Given the description of an element on the screen output the (x, y) to click on. 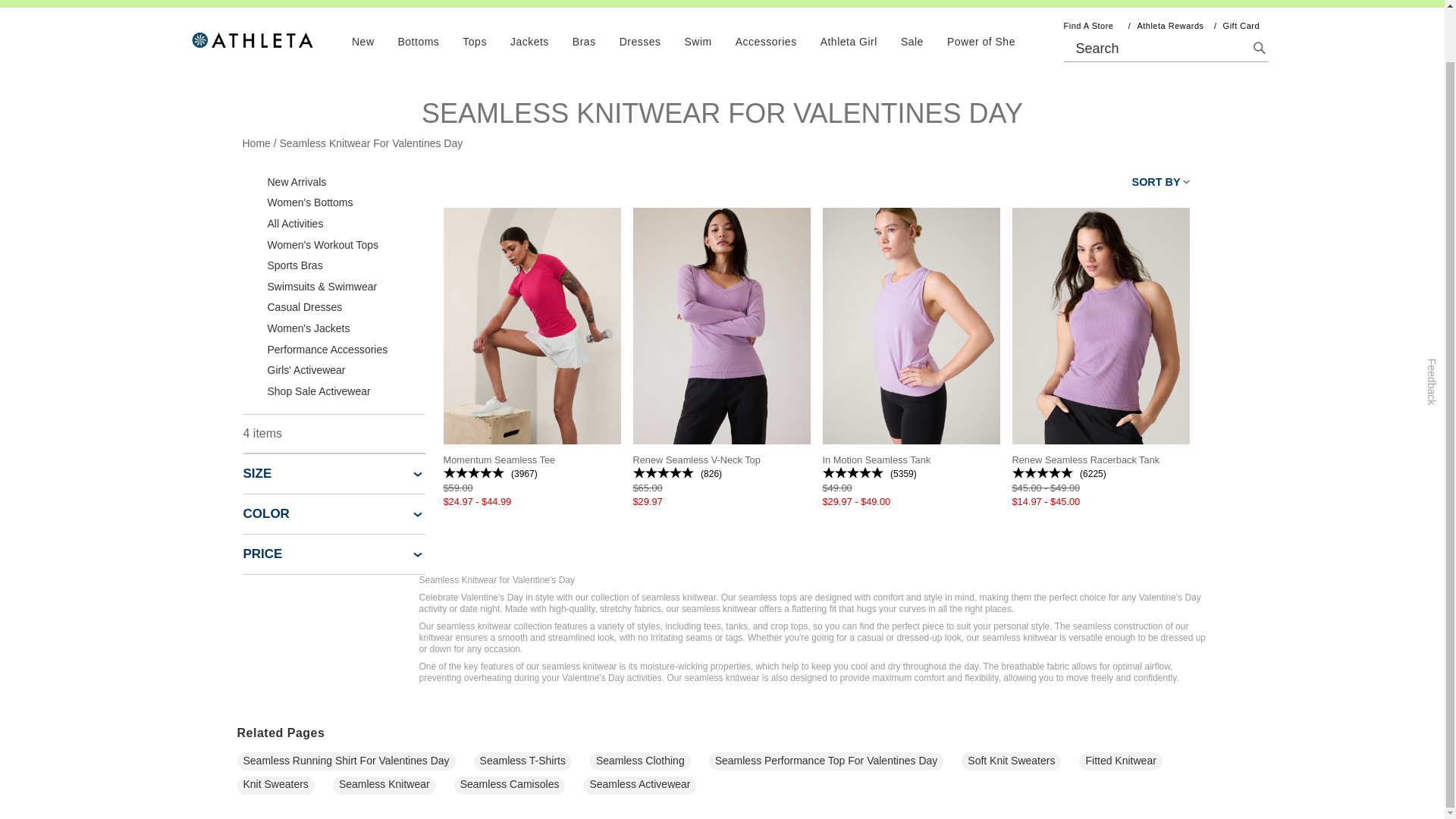
Athleta Rewards (1168, 25)
Dresses (640, 41)
Jackets (529, 41)
Bottoms (418, 41)
Athleta Girl (849, 41)
Tops (474, 41)
Accessories (765, 41)
New (363, 41)
